Given the description of an element on the screen output the (x, y) to click on. 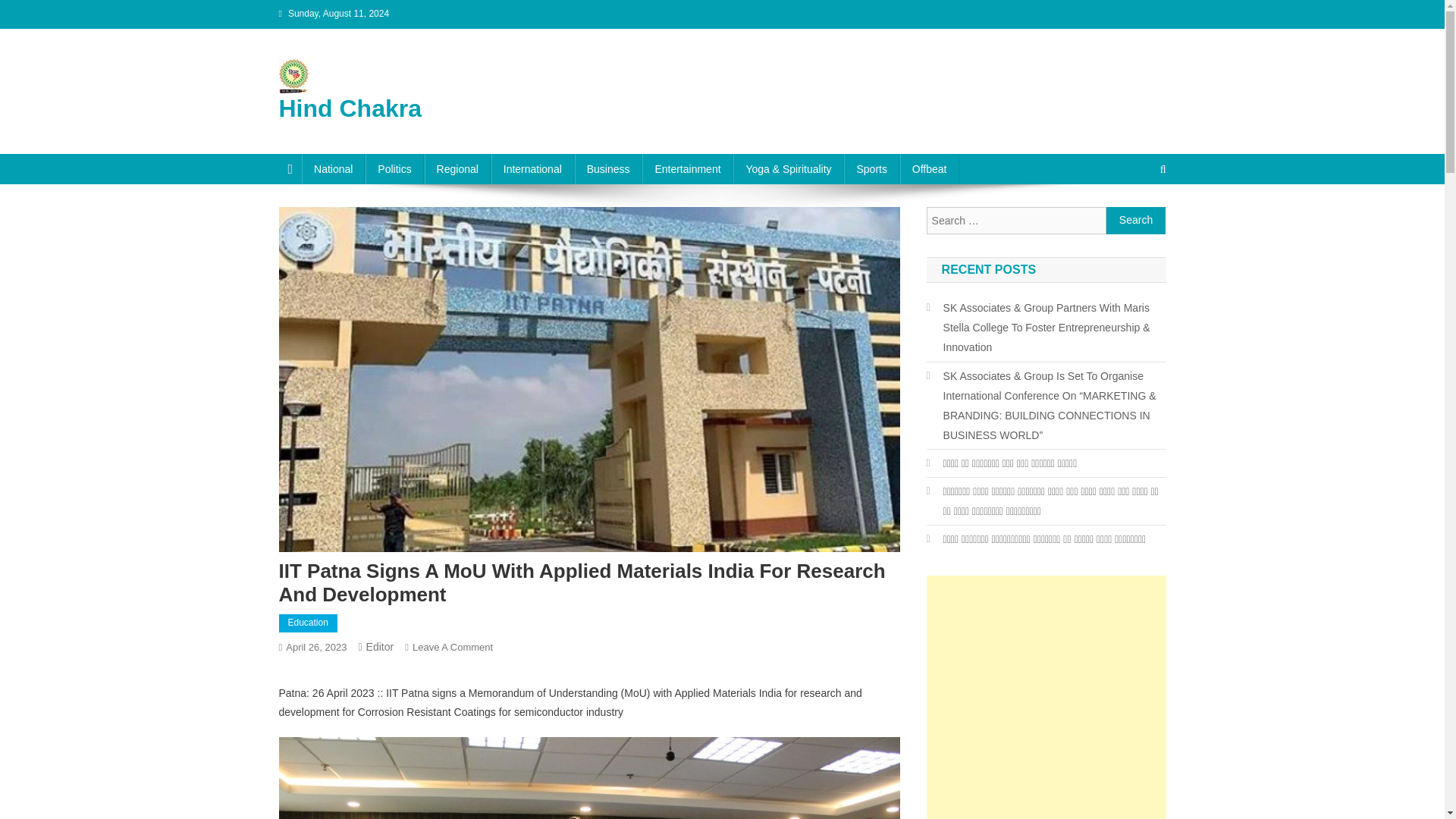
Entertainment (687, 168)
Education (308, 623)
Search (1136, 220)
Politics (394, 168)
Regional (457, 168)
Business (608, 168)
Search (1133, 219)
International (532, 168)
Sports (871, 168)
Editor (380, 646)
